Given the description of an element on the screen output the (x, y) to click on. 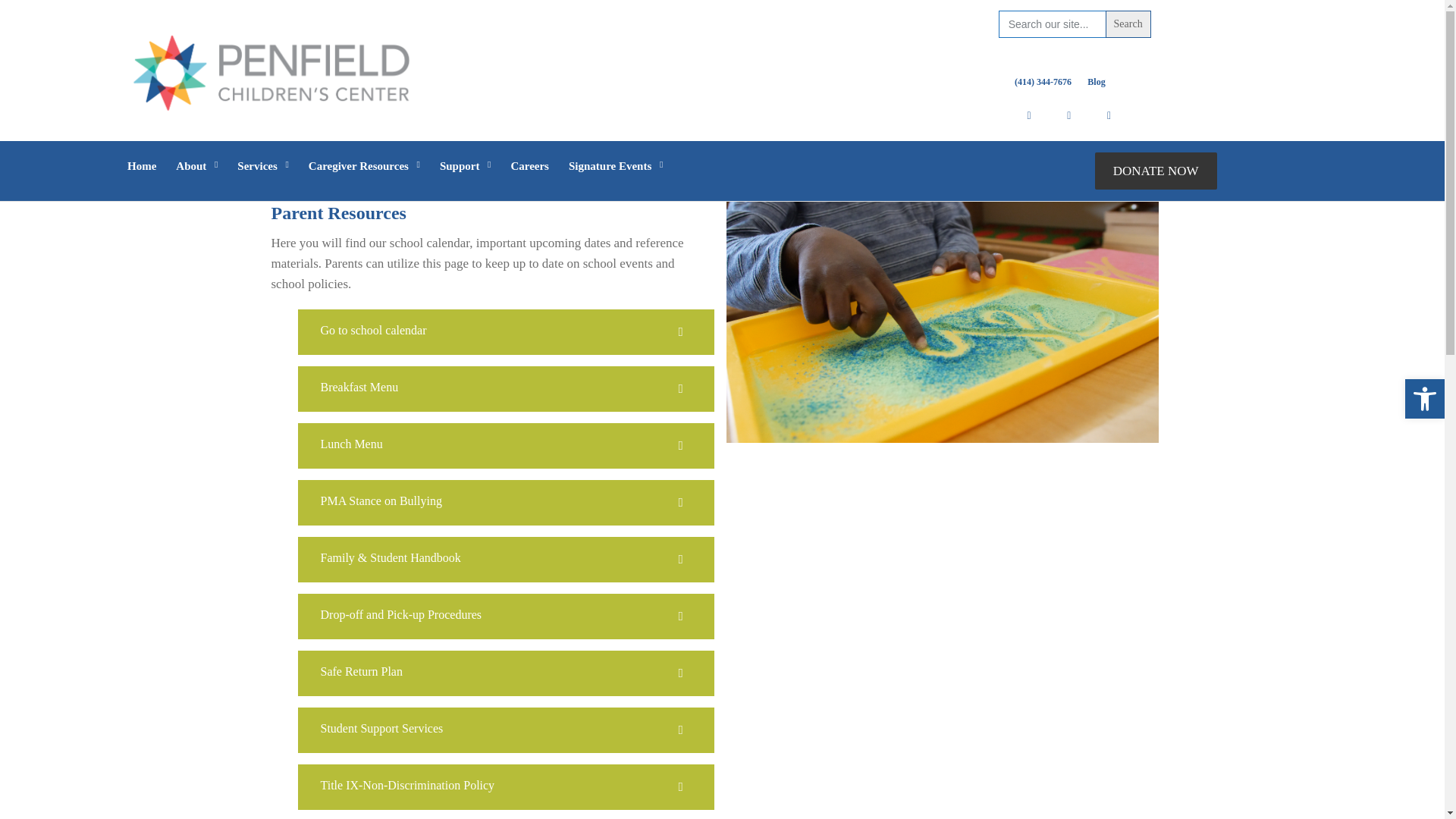
Safe Return (360, 671)
Accessibility Tools (1424, 398)
PMA Calendar (680, 445)
PMA Calendar (680, 388)
Search (1128, 23)
DONATE NOW (1155, 170)
Search (1128, 23)
Student Support Services (381, 727)
PMA Calendar (373, 329)
Drop-off and Pick-up Procedures (400, 614)
PMA Stance On Bullying (680, 502)
Lunch Menu (350, 443)
Drop-off and Pick-up Procedures (680, 616)
Drop-off and Pick-up Procedures (680, 672)
PMA Calendar (680, 331)
